Given the description of an element on the screen output the (x, y) to click on. 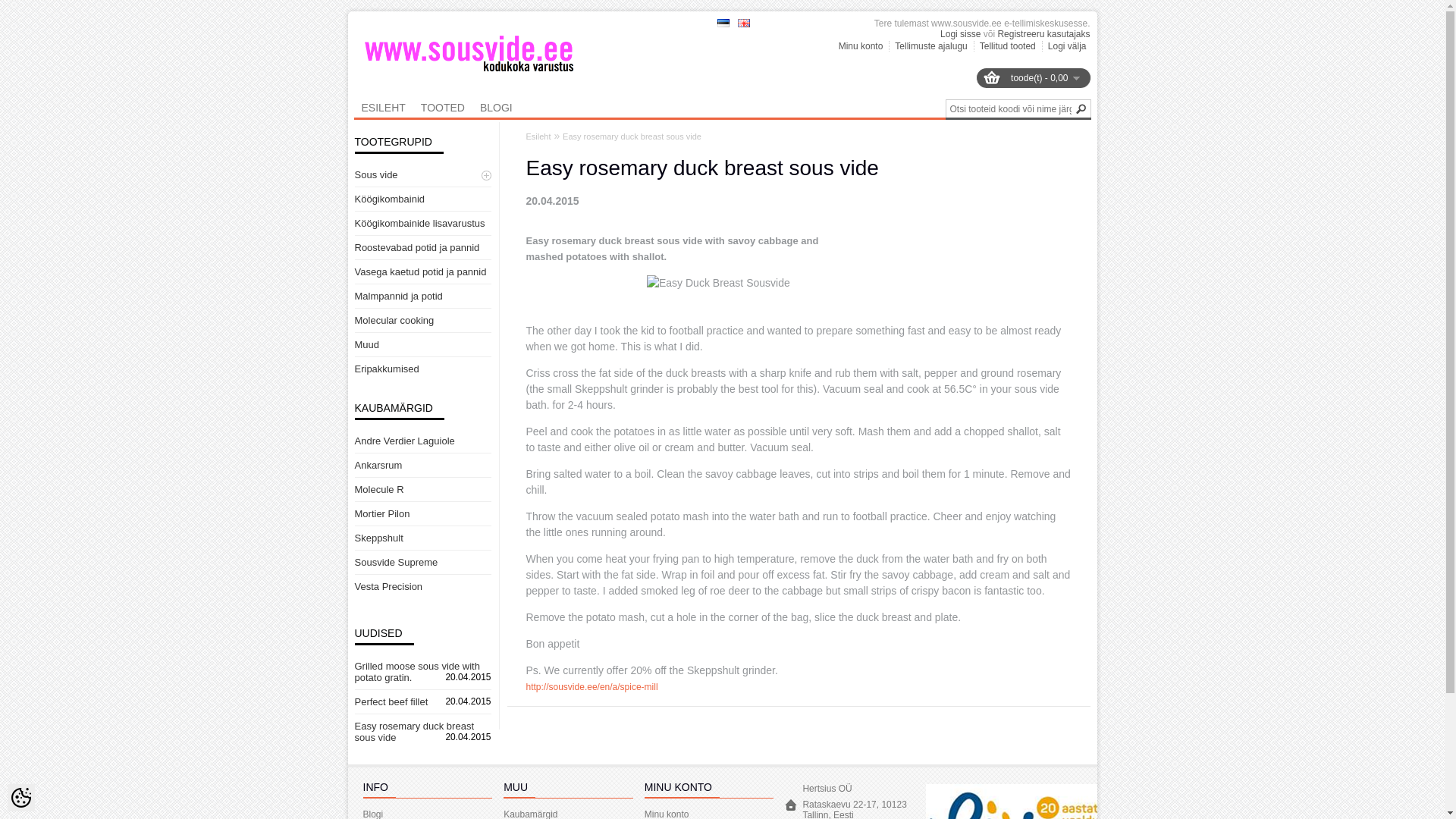
Minu konto (857, 45)
Easy rosemary duck breast sous vide (414, 731)
Registreeru kasutajaks (1043, 33)
Blogi (372, 814)
Easy rosemary duck breast sous vide (631, 135)
Vesta Precision (389, 586)
BLOGI (495, 107)
Ankarsrum (379, 464)
Perfect beef fillet (391, 701)
Sousvide Supreme (396, 562)
